Given the description of an element on the screen output the (x, y) to click on. 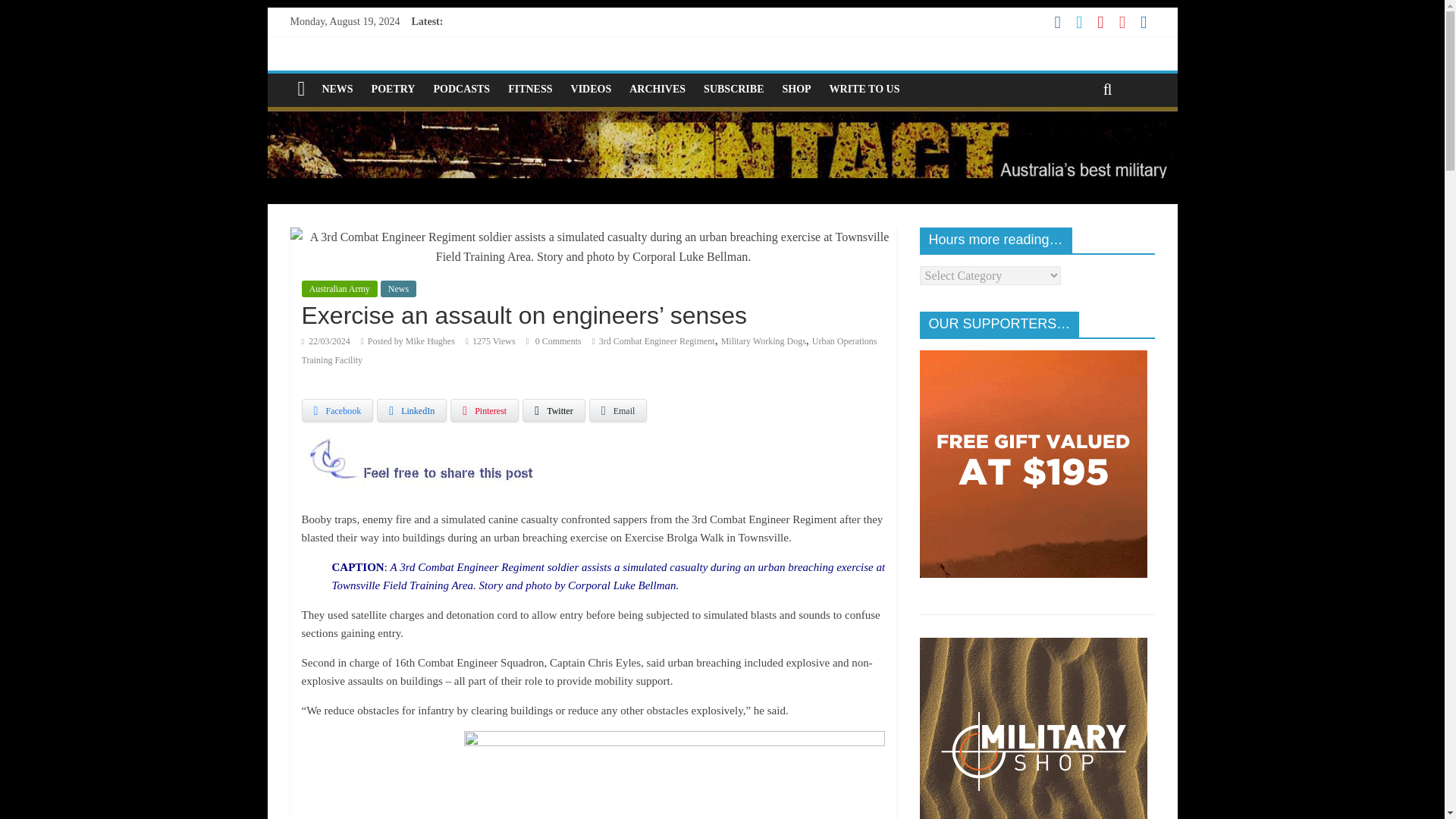
FITNESS (529, 89)
0 Comments (552, 340)
CONTACT magazine (721, 115)
3:45 pm (325, 340)
Share this article on Twitter (553, 410)
WRITE TO US (864, 89)
PODCASTS (461, 89)
Urban Operations Training Facility (589, 350)
Share this article on Facebook (337, 410)
SHOP (796, 89)
